Given the description of an element on the screen output the (x, y) to click on. 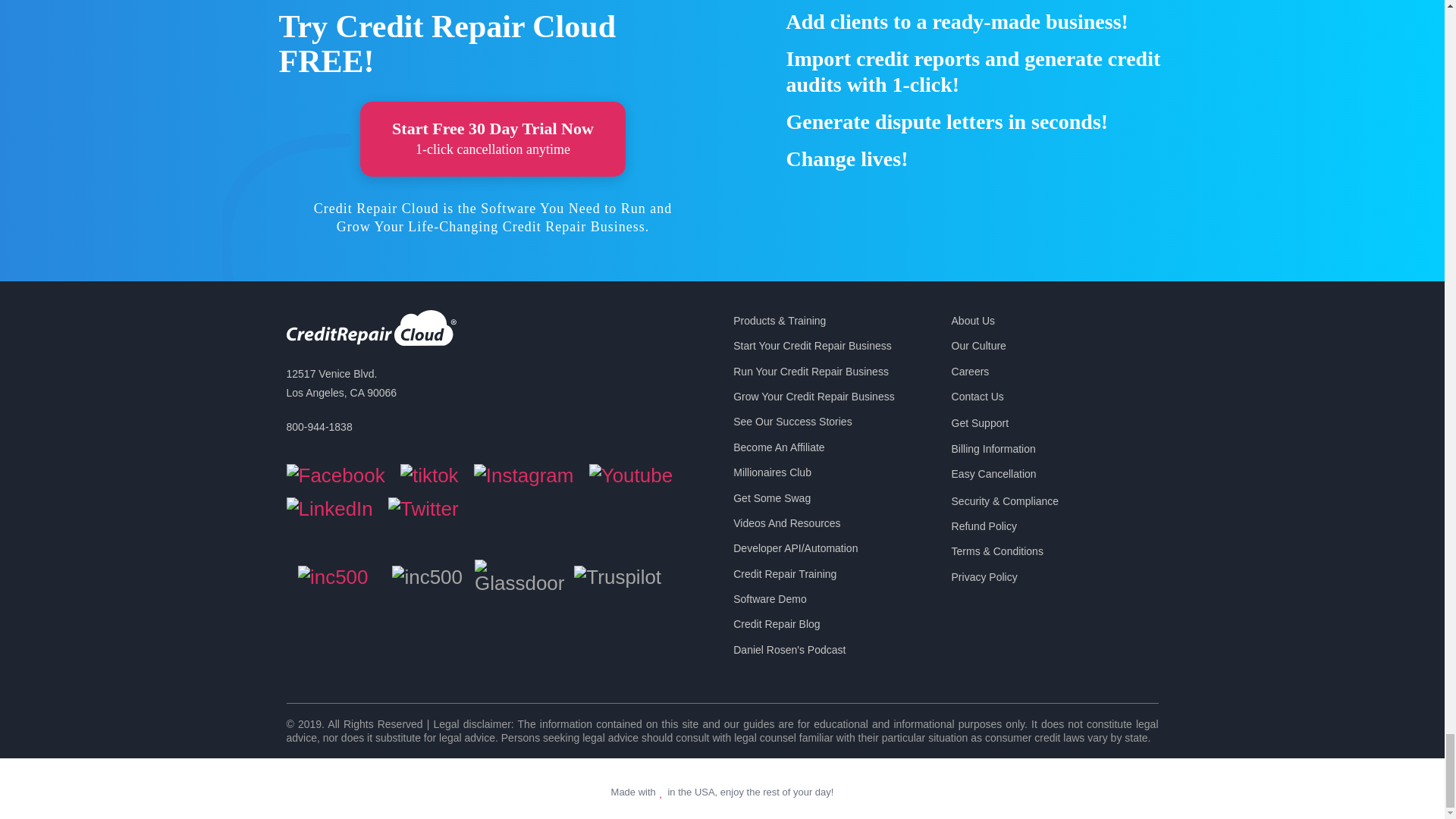
Start Free 30 Day Trial Now 1-click cancellation anytime (492, 138)
